Given the description of an element on the screen output the (x, y) to click on. 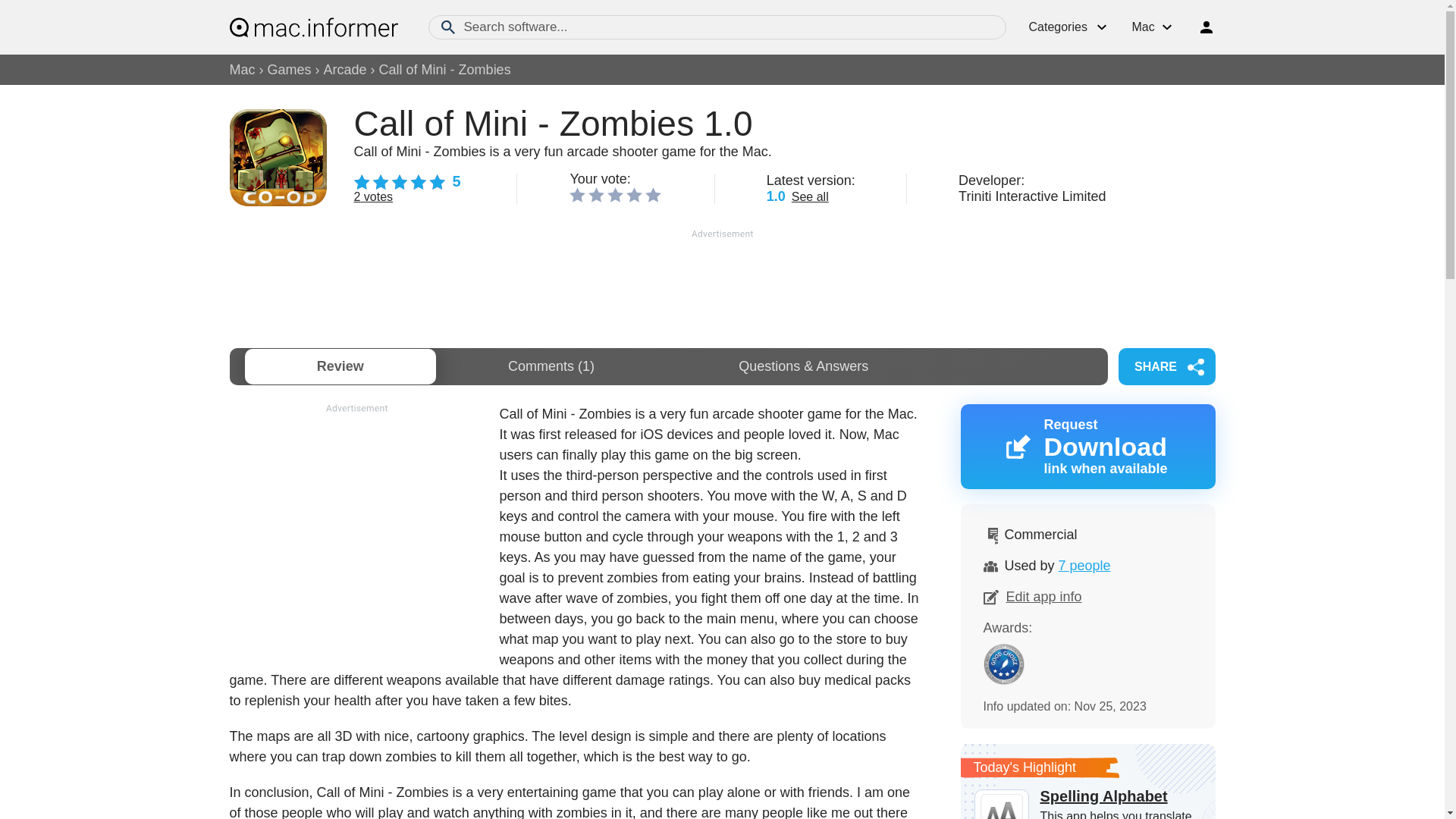
Arcade (344, 69)
Editors' choice award (1002, 663)
Request download link when available (1086, 446)
SHARE (1166, 366)
Call of Mini - Zombies (444, 69)
2 (595, 193)
1 (576, 193)
Review (339, 366)
See all (810, 195)
Advertisement (355, 522)
Search software... (717, 27)
4 (633, 193)
2 votes (373, 196)
Spelling Alphabet (1087, 795)
